Given the description of an element on the screen output the (x, y) to click on. 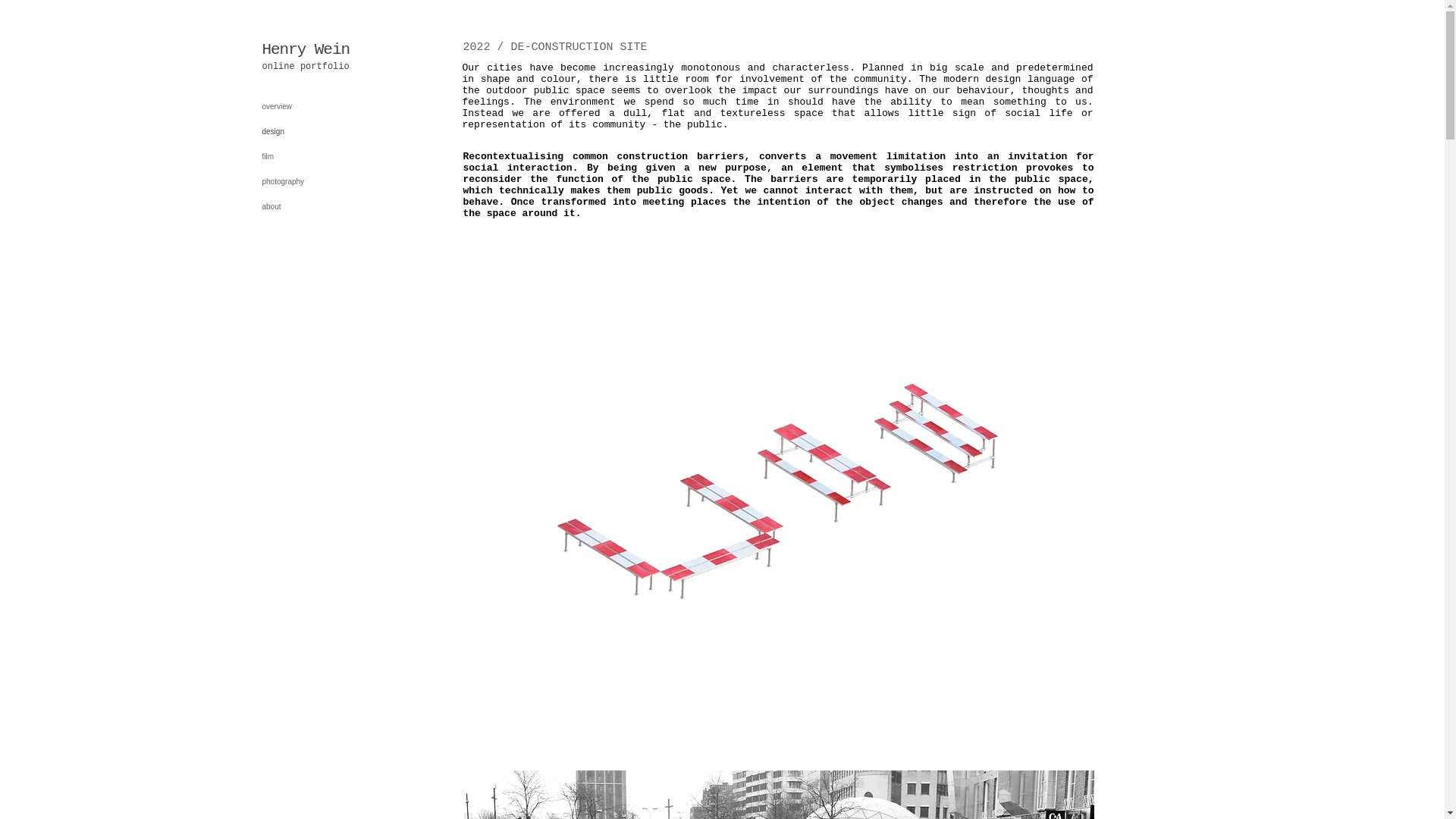
overview (306, 106)
about (306, 206)
